Given the description of an element on the screen output the (x, y) to click on. 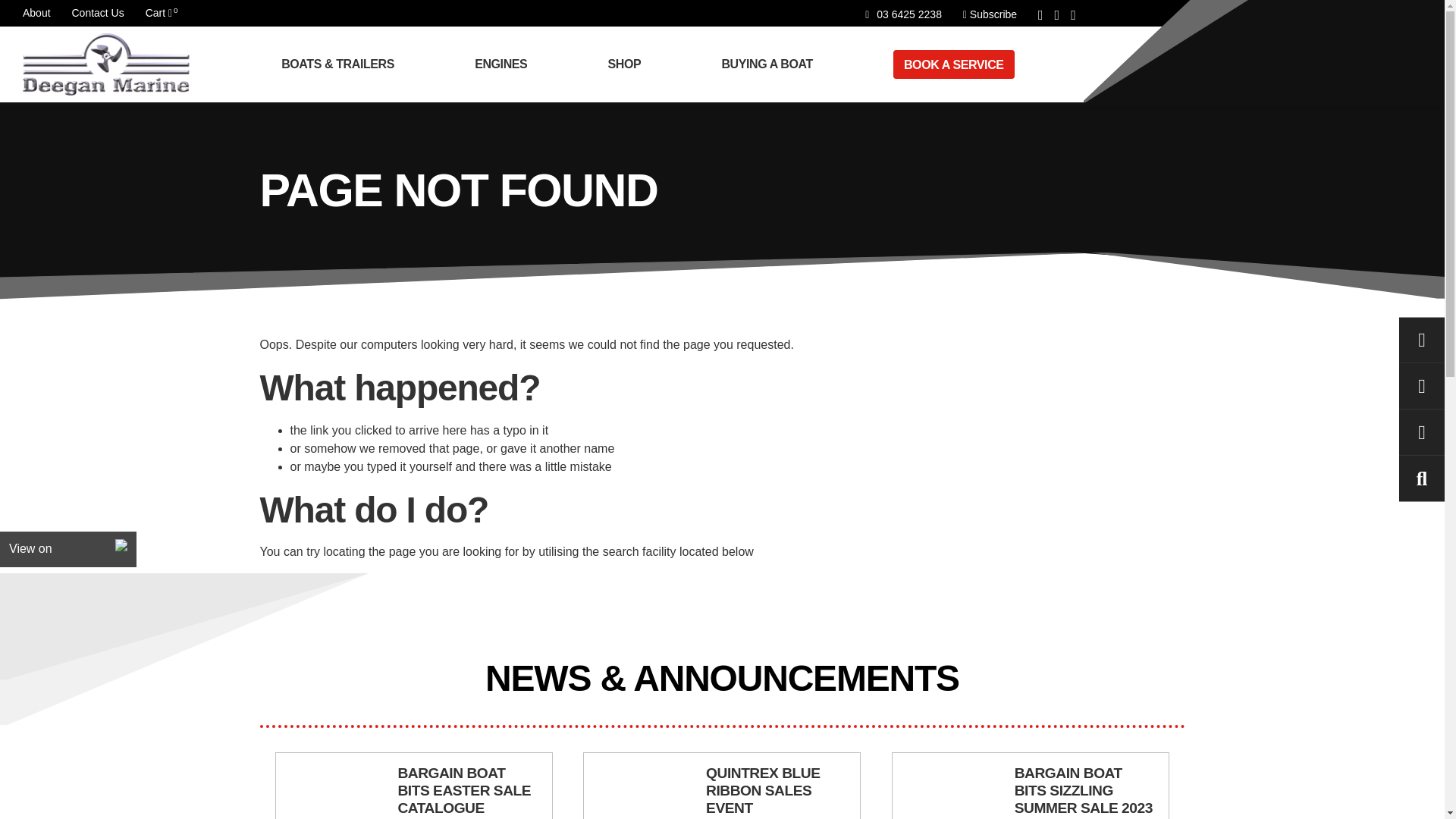
03 6425 2238 (903, 14)
BUYING A BOAT (772, 64)
Contact Us (158, 12)
Subscribe (97, 12)
SHOP (989, 14)
ENGINES (630, 64)
About (506, 64)
